Given the description of an element on the screen output the (x, y) to click on. 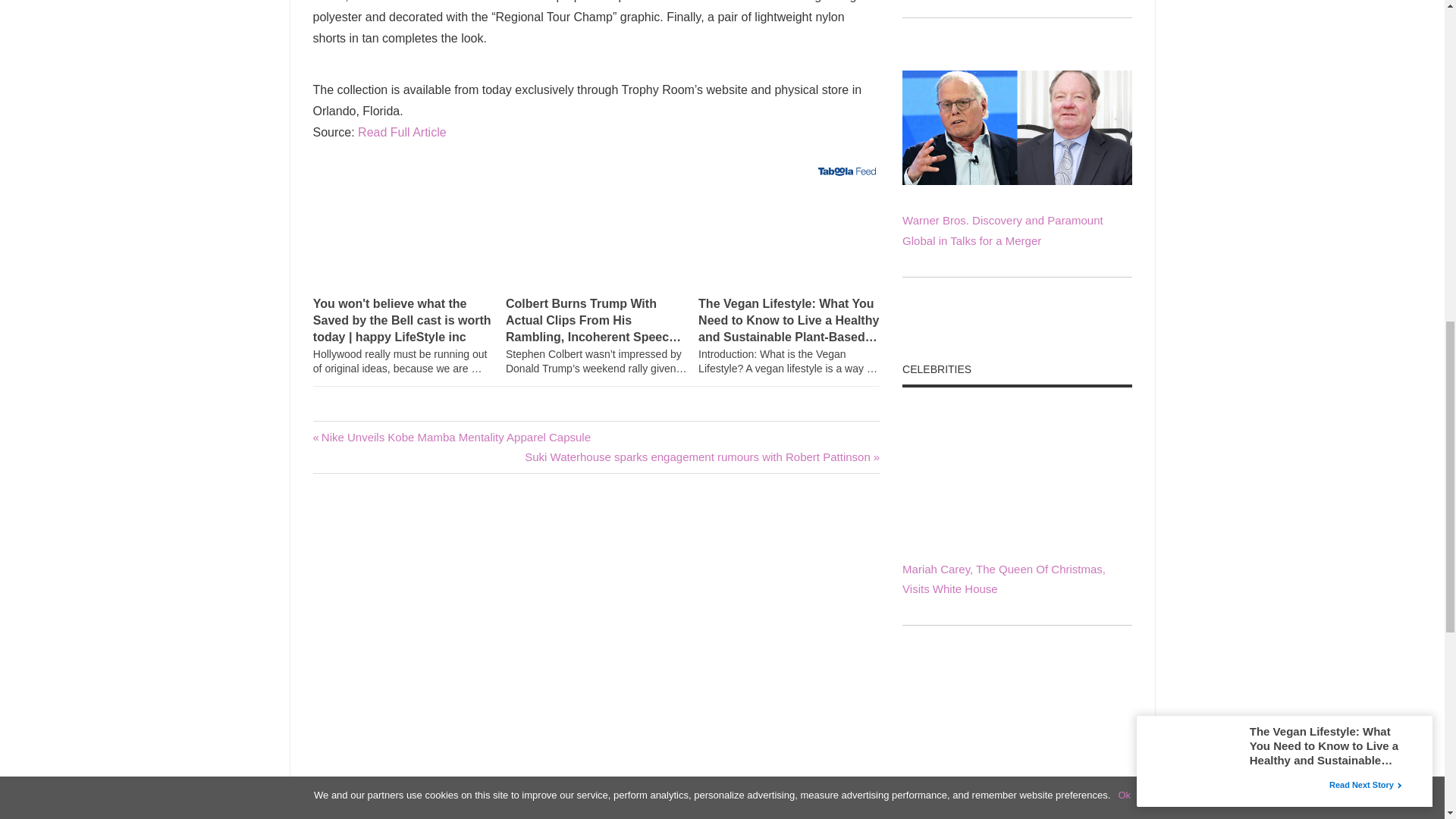
Read Full Article (402, 132)
Mariah Carey, The Queen Of Christmas, Visits White House (1003, 578)
